Given the description of an element on the screen output the (x, y) to click on. 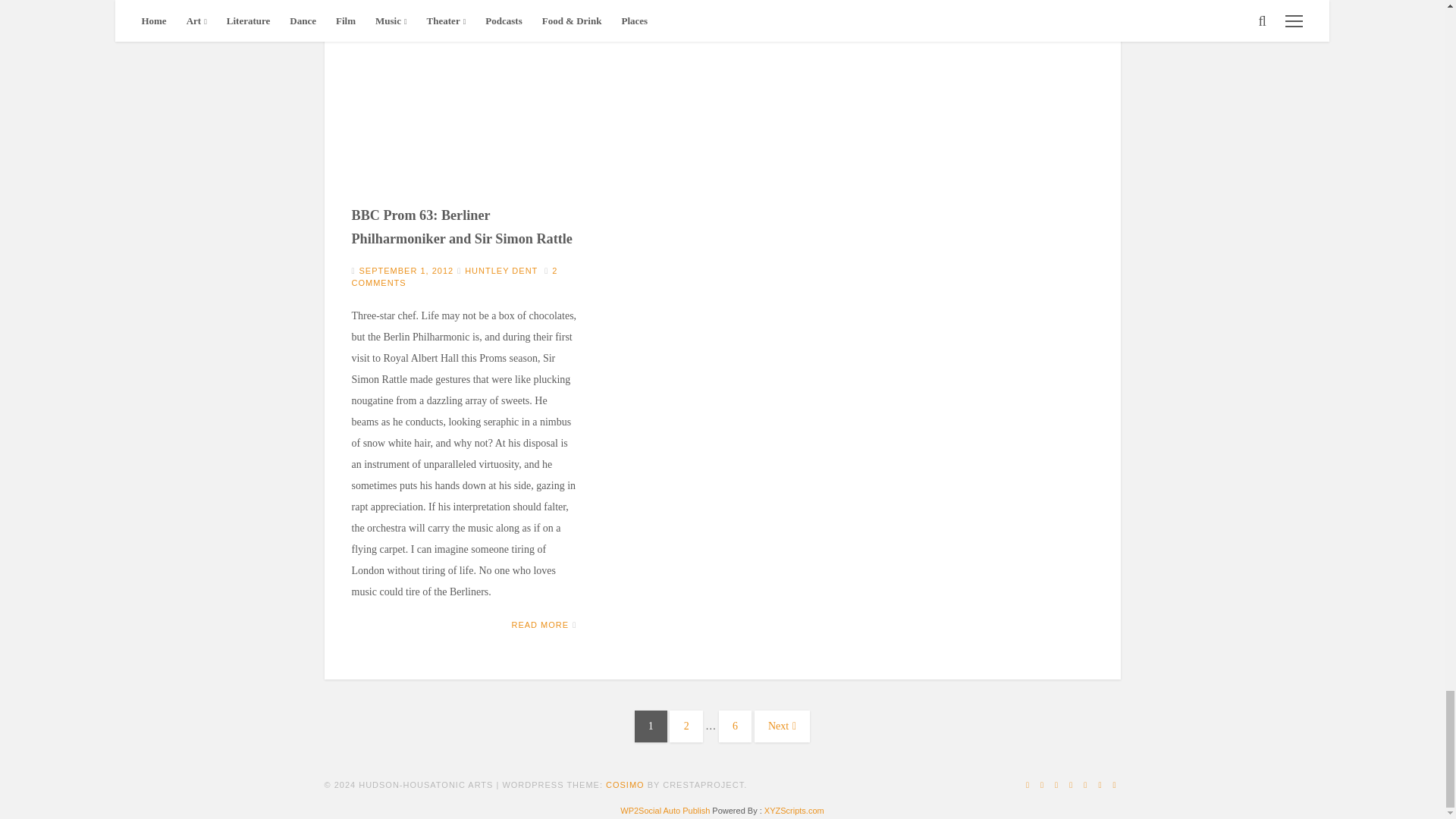
Tumblr (1099, 784)
Linkedin (1042, 784)
BBC Prom 63: Berliner Philharmoniker and Sir Simon Rattle (464, 129)
Pinterest (1085, 784)
Google Plus (1027, 784)
YouTube (1071, 784)
Instagram (1056, 784)
WP2Social Auto Publish (665, 809)
VK (1113, 784)
Cosimo Theme (625, 784)
